Given the description of an element on the screen output the (x, y) to click on. 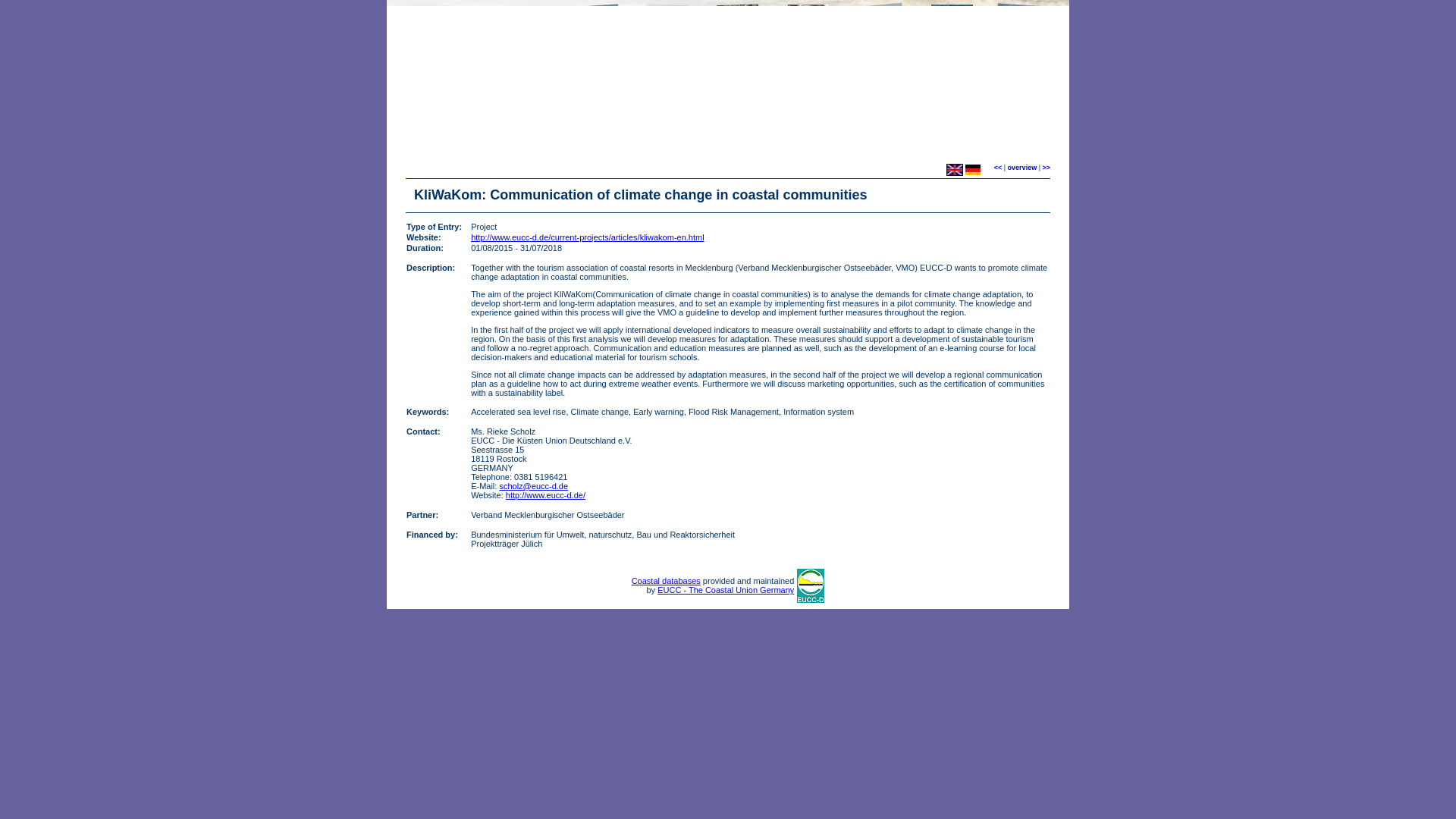
English (954, 169)
Coastal databases (665, 580)
overview (1021, 167)
EUCC - The Coastal Union Germany (725, 589)
German (972, 169)
